Given the description of an element on the screen output the (x, y) to click on. 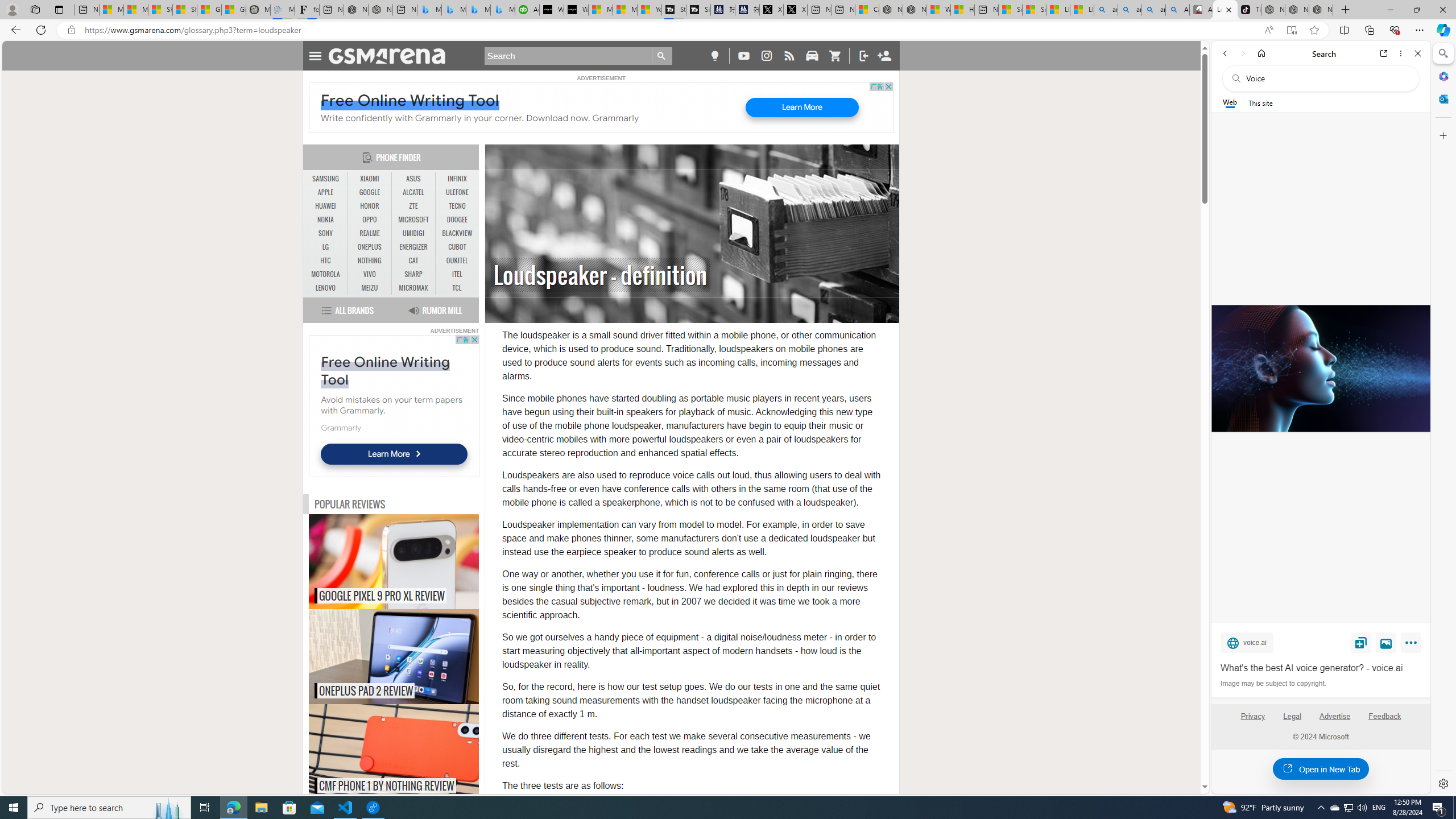
SAMSUNG (325, 178)
LG (325, 246)
ULEFONE (457, 192)
TCL (457, 287)
MICROSOFT (413, 219)
CAT (413, 260)
OPPO (369, 219)
HONOR (369, 205)
